Given the description of an element on the screen output the (x, y) to click on. 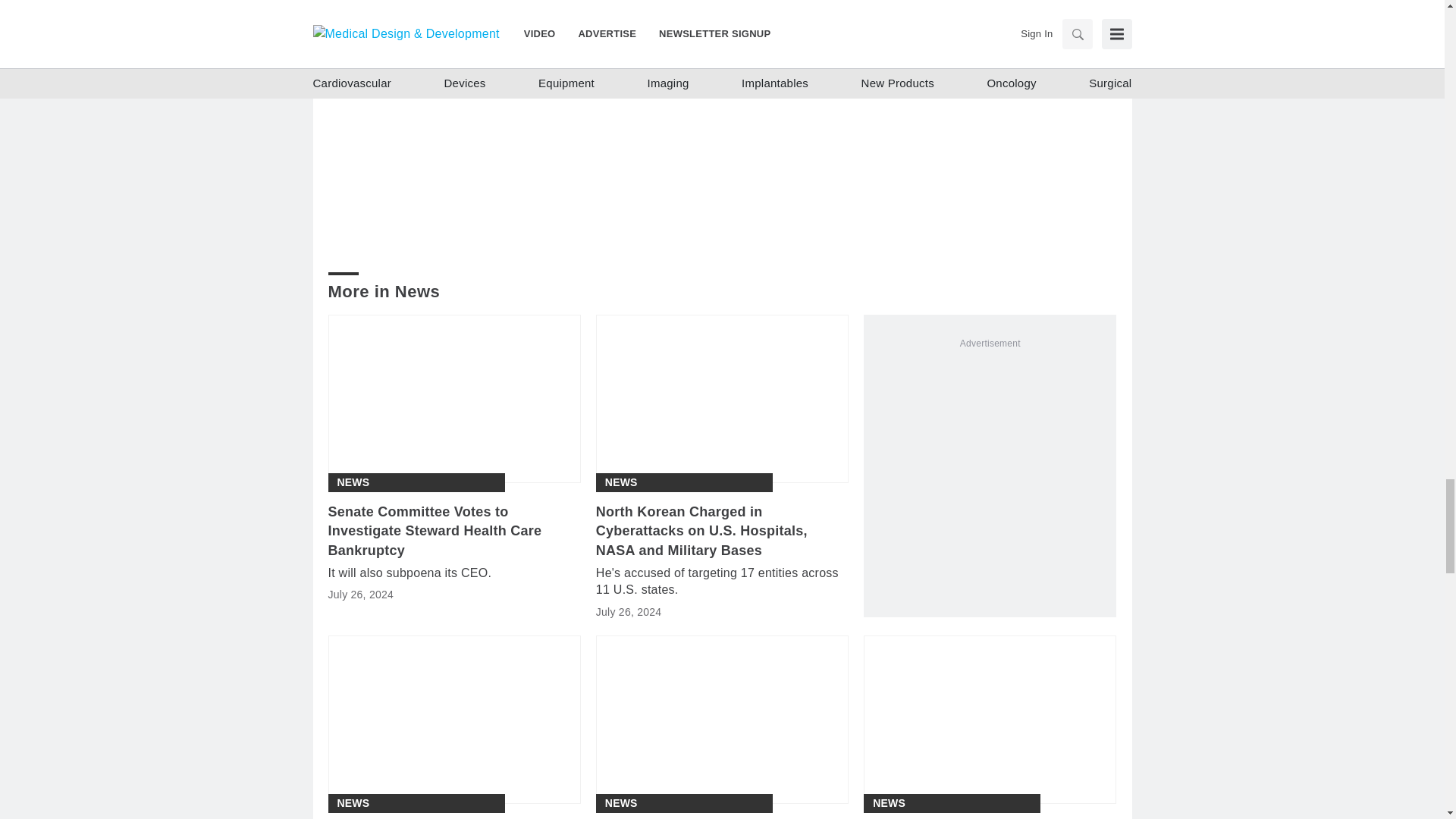
News (621, 482)
News (621, 803)
News (888, 803)
News (352, 803)
News (352, 482)
